Given the description of an element on the screen output the (x, y) to click on. 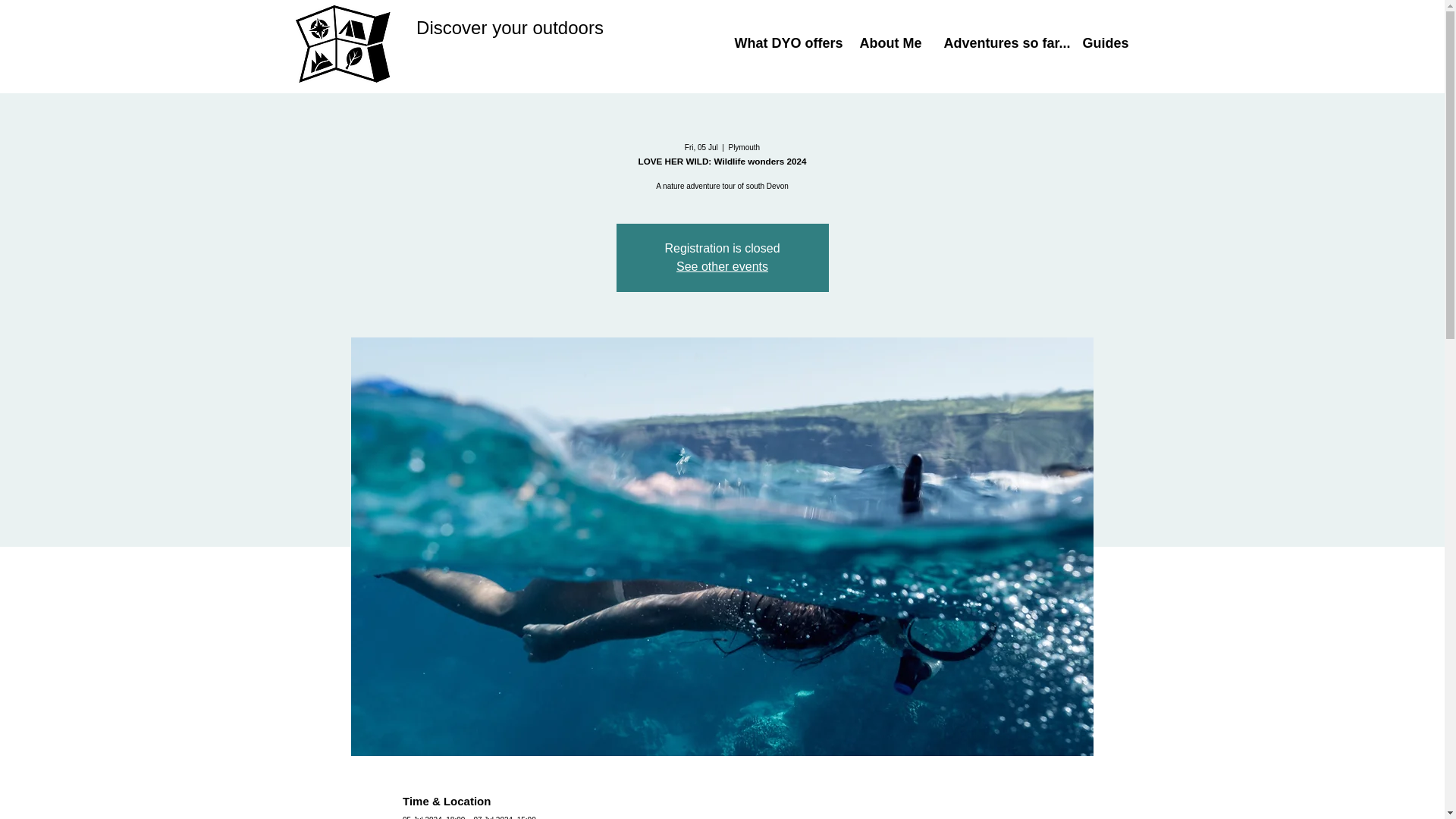
See other events (722, 266)
About Me (889, 43)
Adventures so far... (1002, 43)
What DYO offers (785, 43)
Guides (1103, 43)
